Given the description of an element on the screen output the (x, y) to click on. 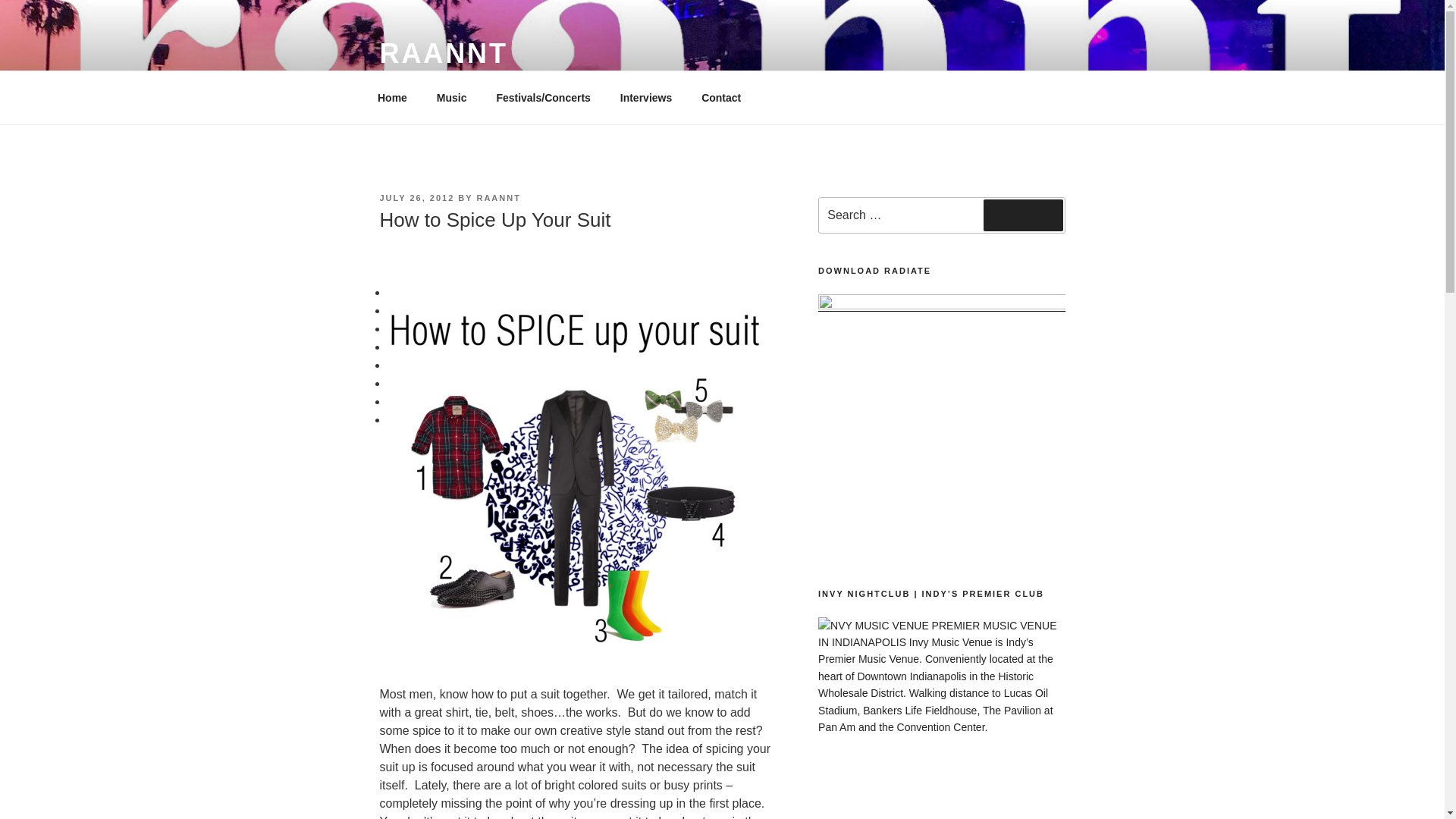
Contact (721, 97)
JULY 26, 2012 (416, 197)
Music (451, 97)
Interviews (645, 97)
RAANNT (497, 197)
Contact (721, 97)
Search (1023, 214)
RAANNT (442, 52)
Home (392, 97)
